Given the description of an element on the screen output the (x, y) to click on. 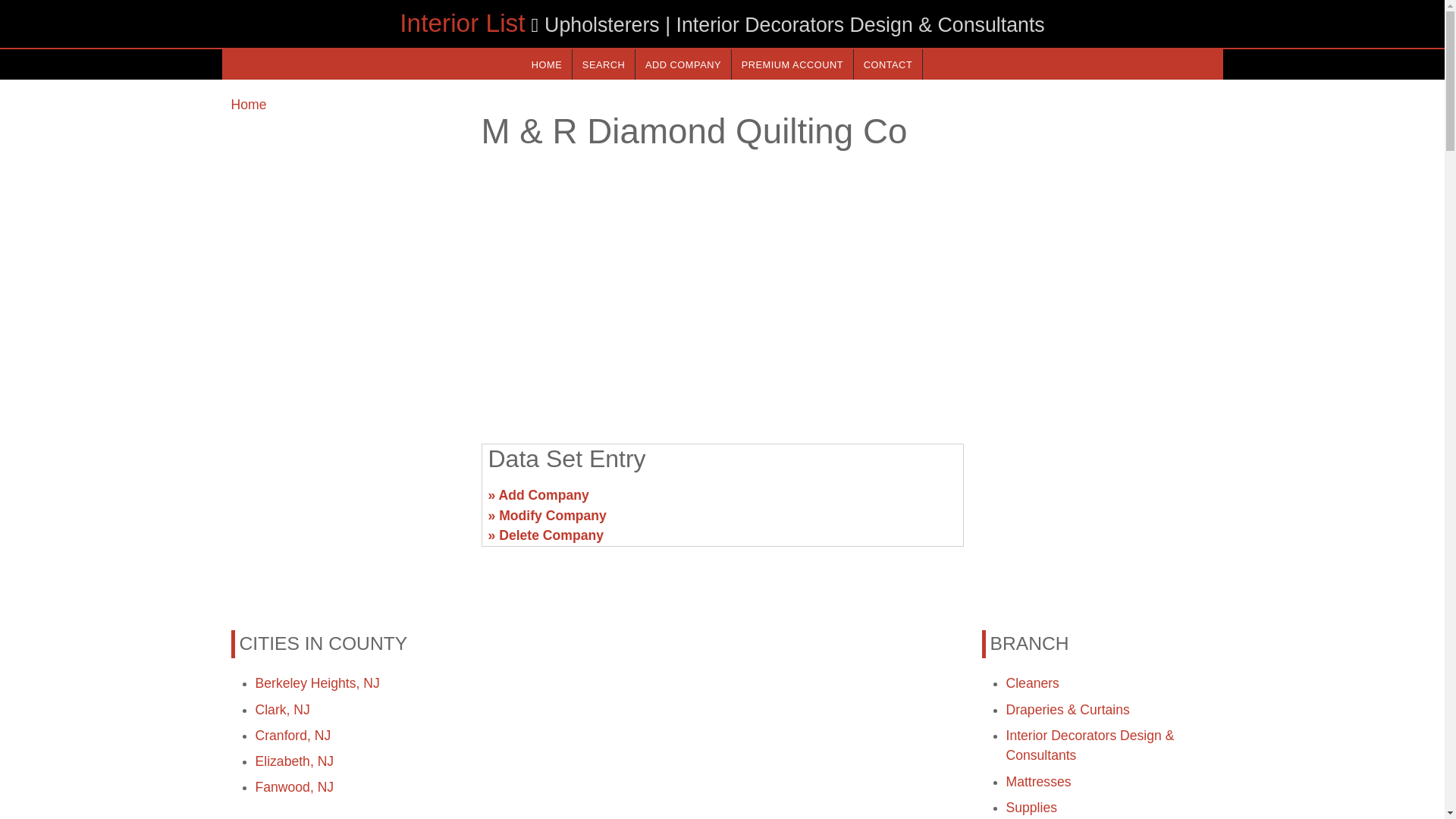
HOME (546, 64)
Interior List (461, 22)
Elizabeth, NJ (293, 761)
SEARCH (603, 64)
Premium account (792, 64)
Home (248, 104)
Cranford, NJ (292, 735)
PREMIUM ACCOUNT (792, 64)
Cleaners (1032, 683)
Mattresses (1038, 781)
